Given the description of an element on the screen output the (x, y) to click on. 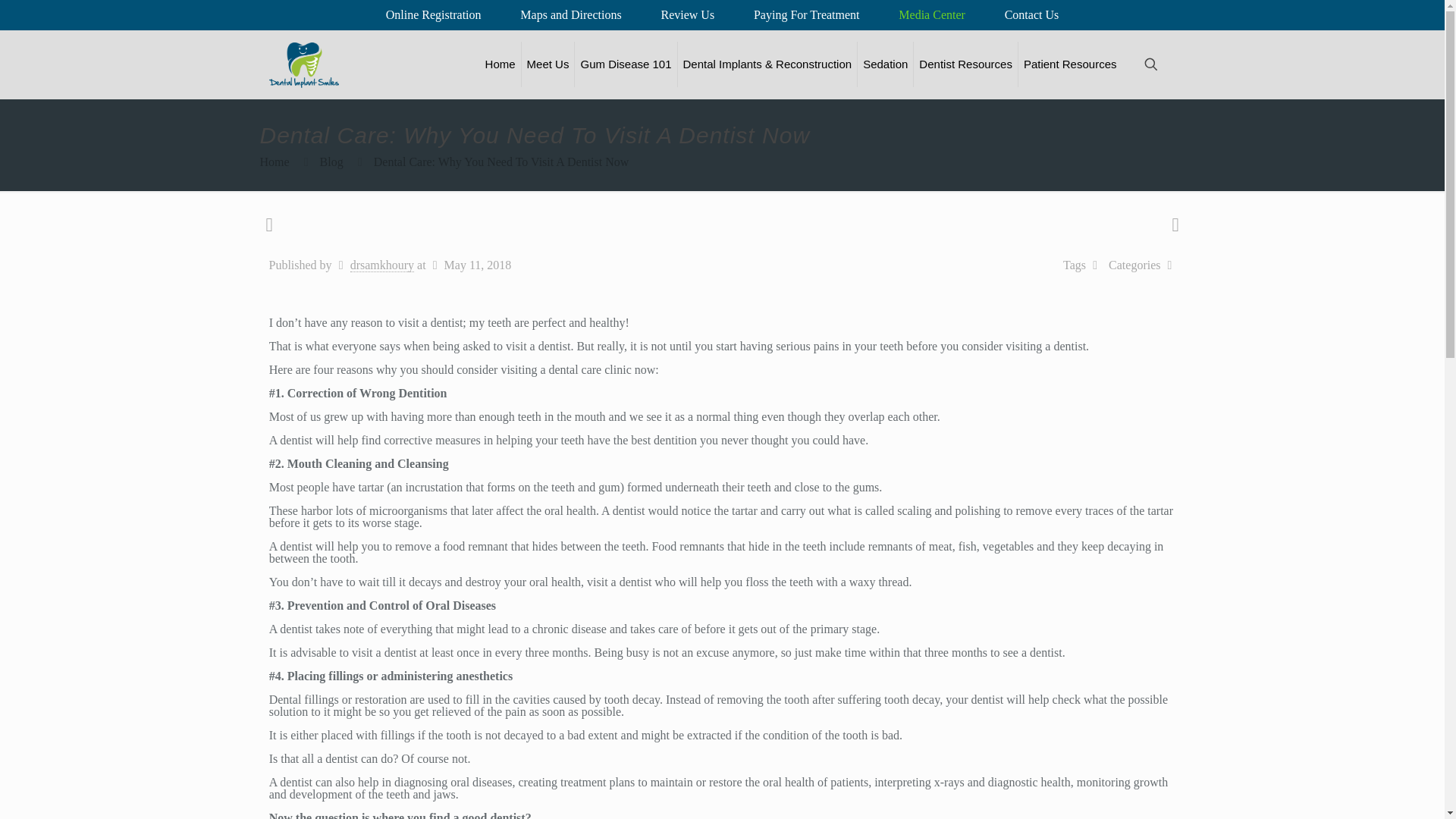
Paying For Treatment (807, 15)
Review Us (687, 15)
Gum Disease 101 (626, 64)
Contact Us (1031, 15)
Media Center (931, 15)
Online Registration (433, 15)
Gum Disease 101 (626, 64)
Maps and Directions (570, 15)
